Given the description of an element on the screen output the (x, y) to click on. 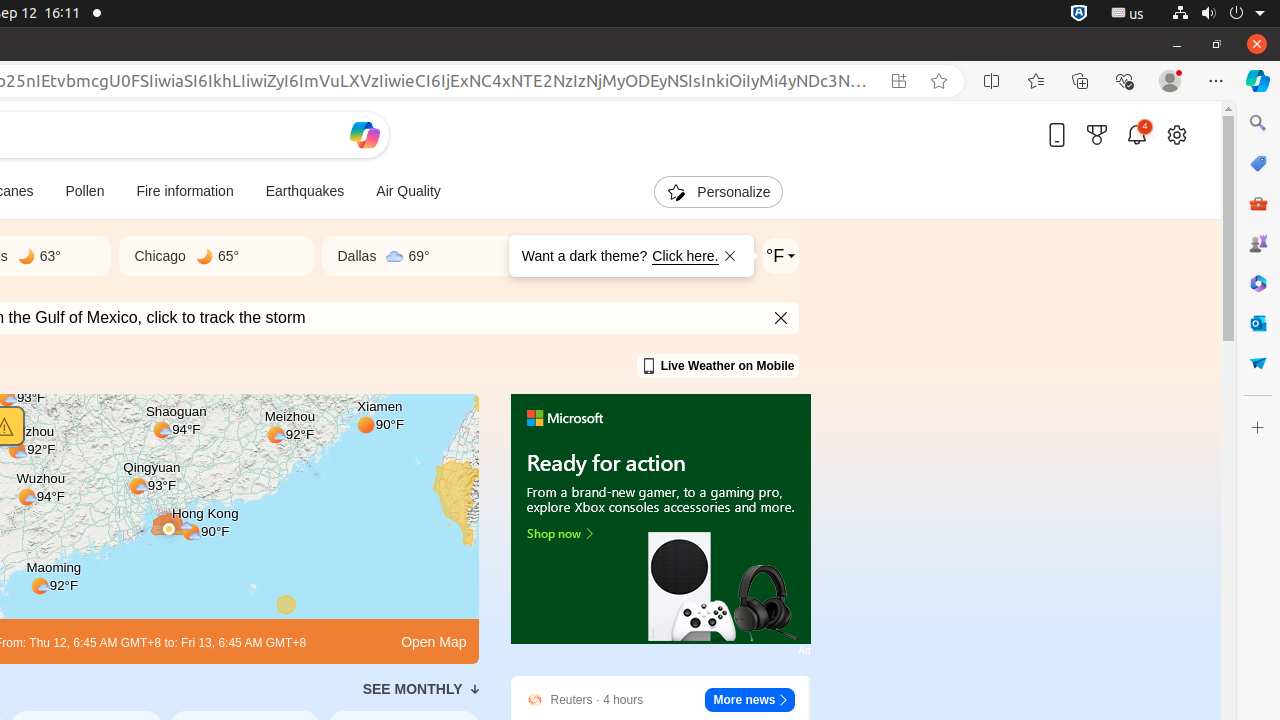
Notifications Element type: push-button (1137, 134)
Chicago Element type: push-button (160, 256)
Open Copilot Element type: push-button (364, 135)
Browser essentials Element type: push-button (1124, 81)
Weather settings Element type: push-button (780, 256)
